Given the description of an element on the screen output the (x, y) to click on. 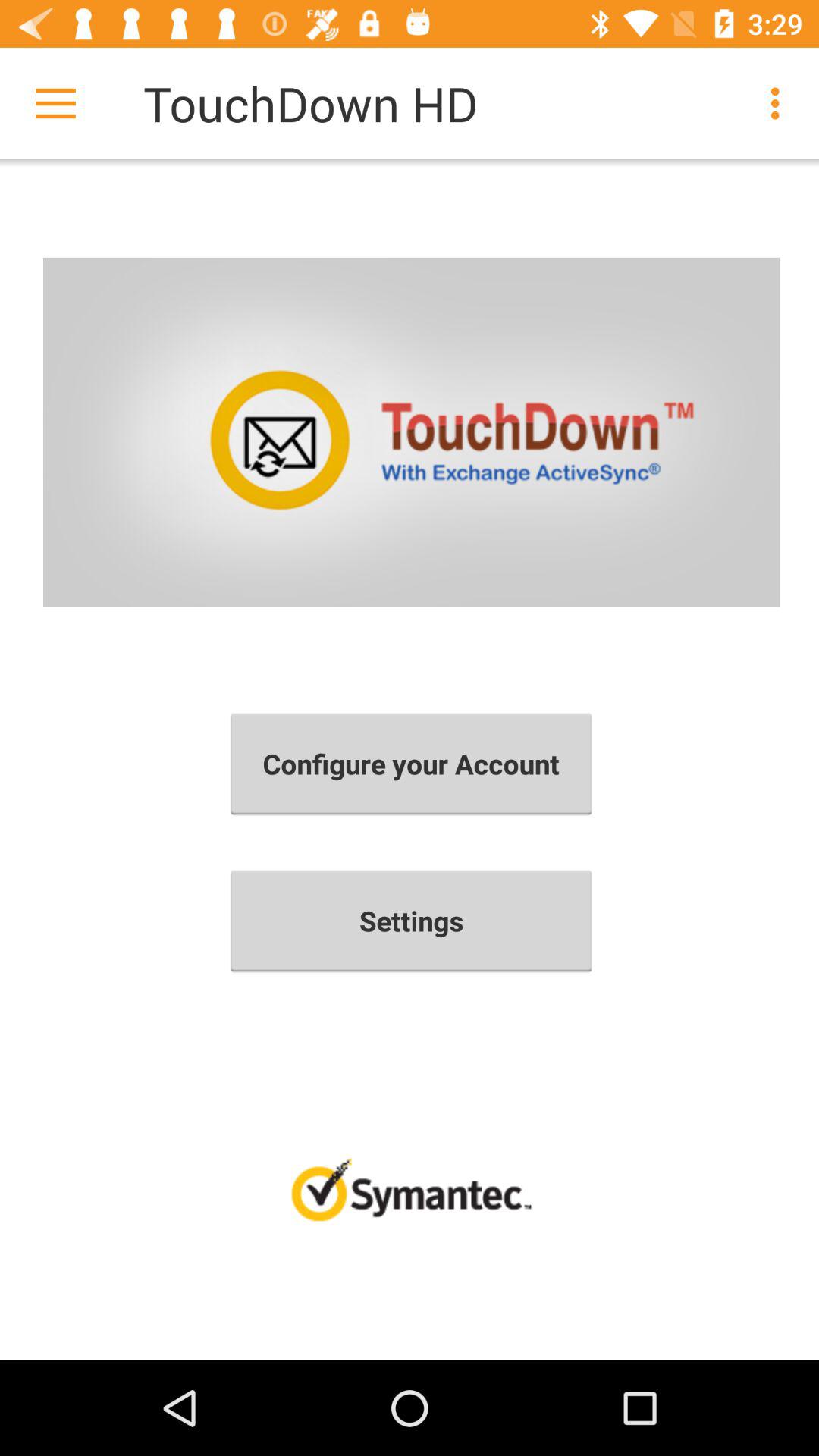
swipe until the settings (410, 920)
